Given the description of an element on the screen output the (x, y) to click on. 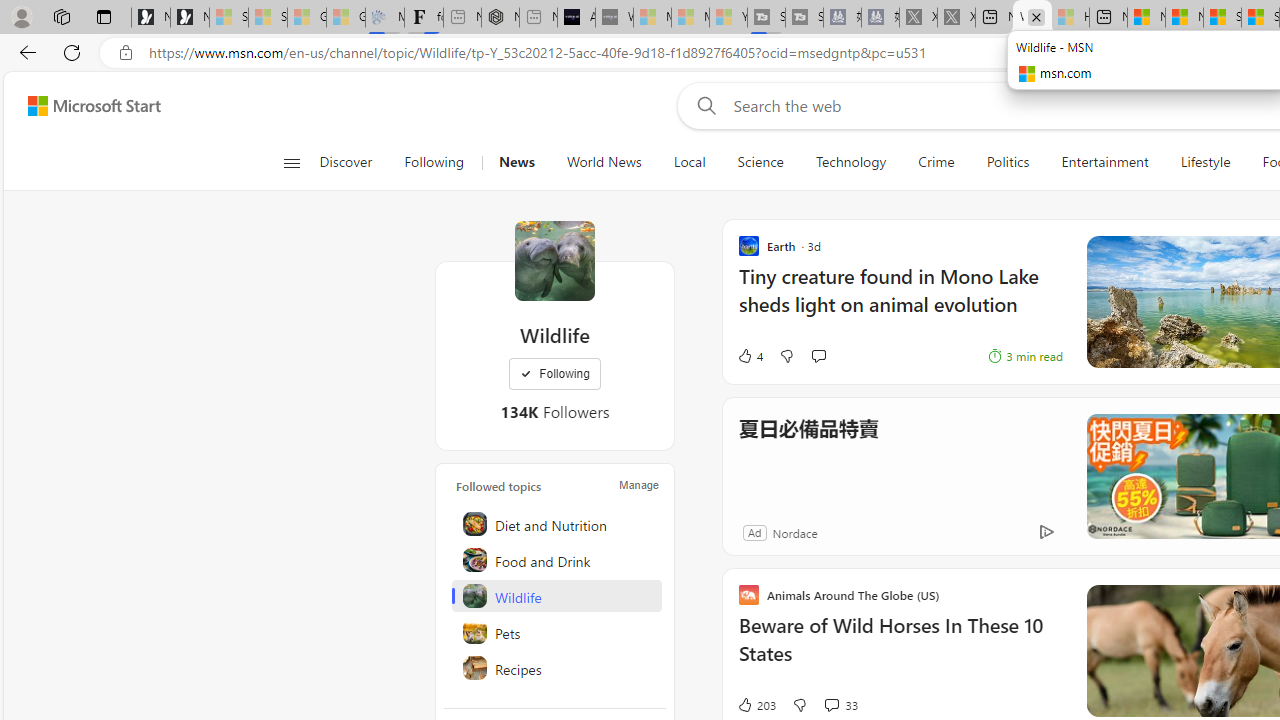
Microsoft Start Sports - Sleeping (651, 17)
Politics (1007, 162)
